Given the description of an element on the screen output the (x, y) to click on. 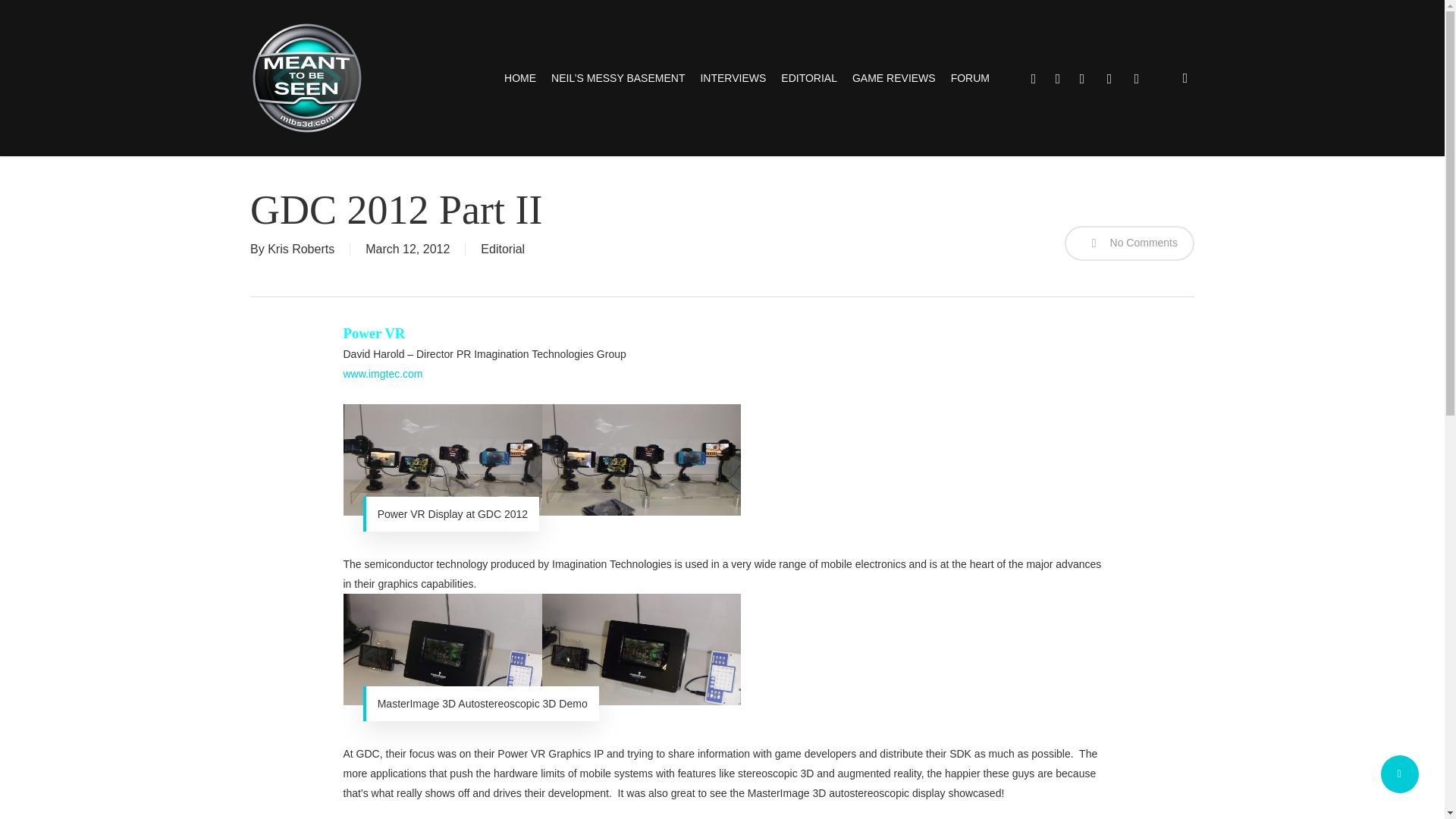
INTERVIEWS (732, 77)
EDITORIAL (808, 77)
No Comments (1128, 243)
Kris Roberts (300, 248)
facebook (1057, 77)
MasterImage 3D Autostereoscopic 3D Demo (540, 649)
Power VR Display at GDC 2012 (540, 459)
email (1136, 77)
www.imgtec.com (382, 373)
Editorial (502, 248)
